Given the description of an element on the screen output the (x, y) to click on. 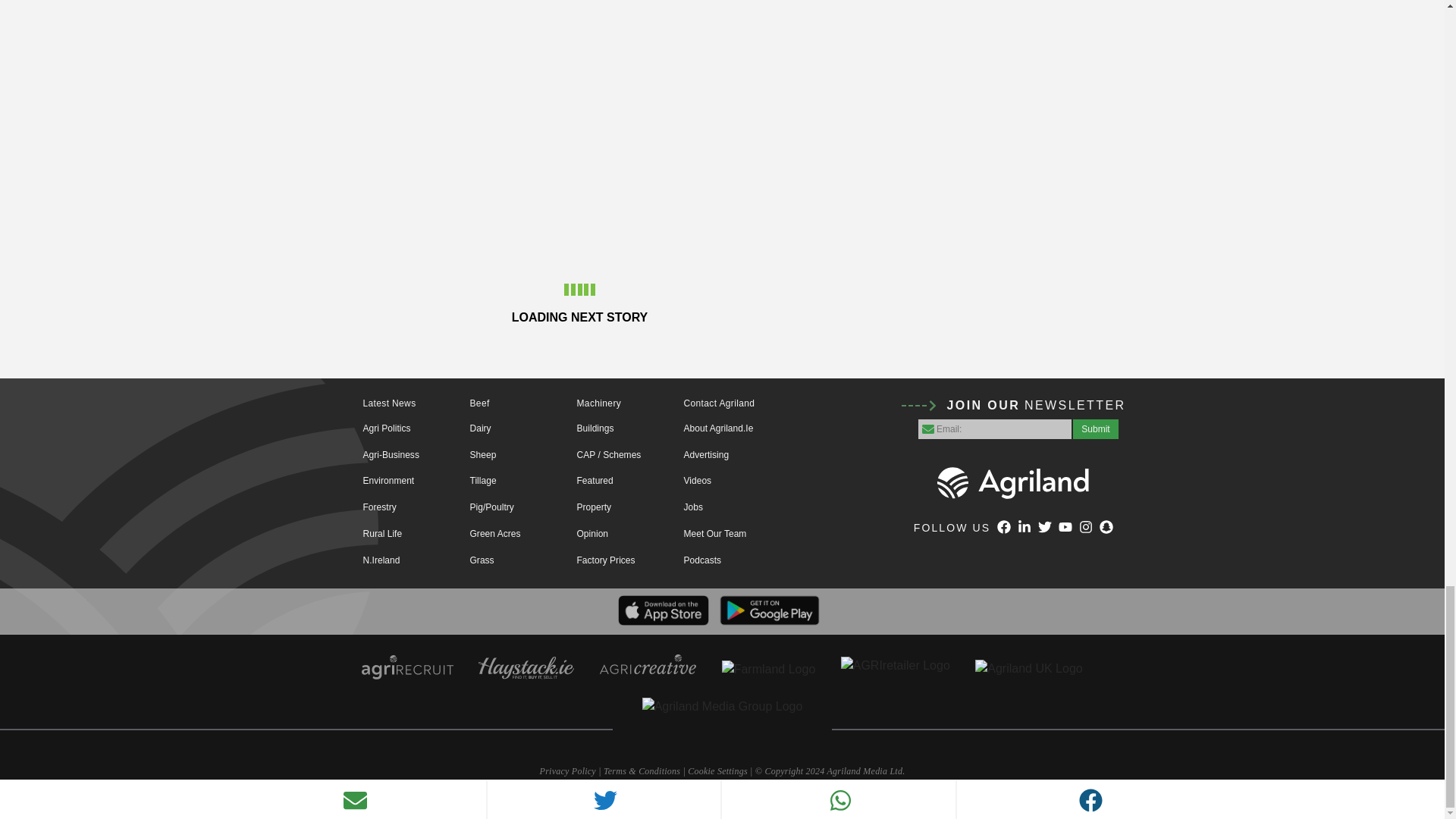
Link to Twitter (1044, 528)
Link to Linked In (1023, 528)
Link to Instagram (1085, 528)
Link to Snap Chat (1106, 528)
Link to You Tube (1064, 528)
Link to Facebook (1003, 528)
